Given the description of an element on the screen output the (x, y) to click on. 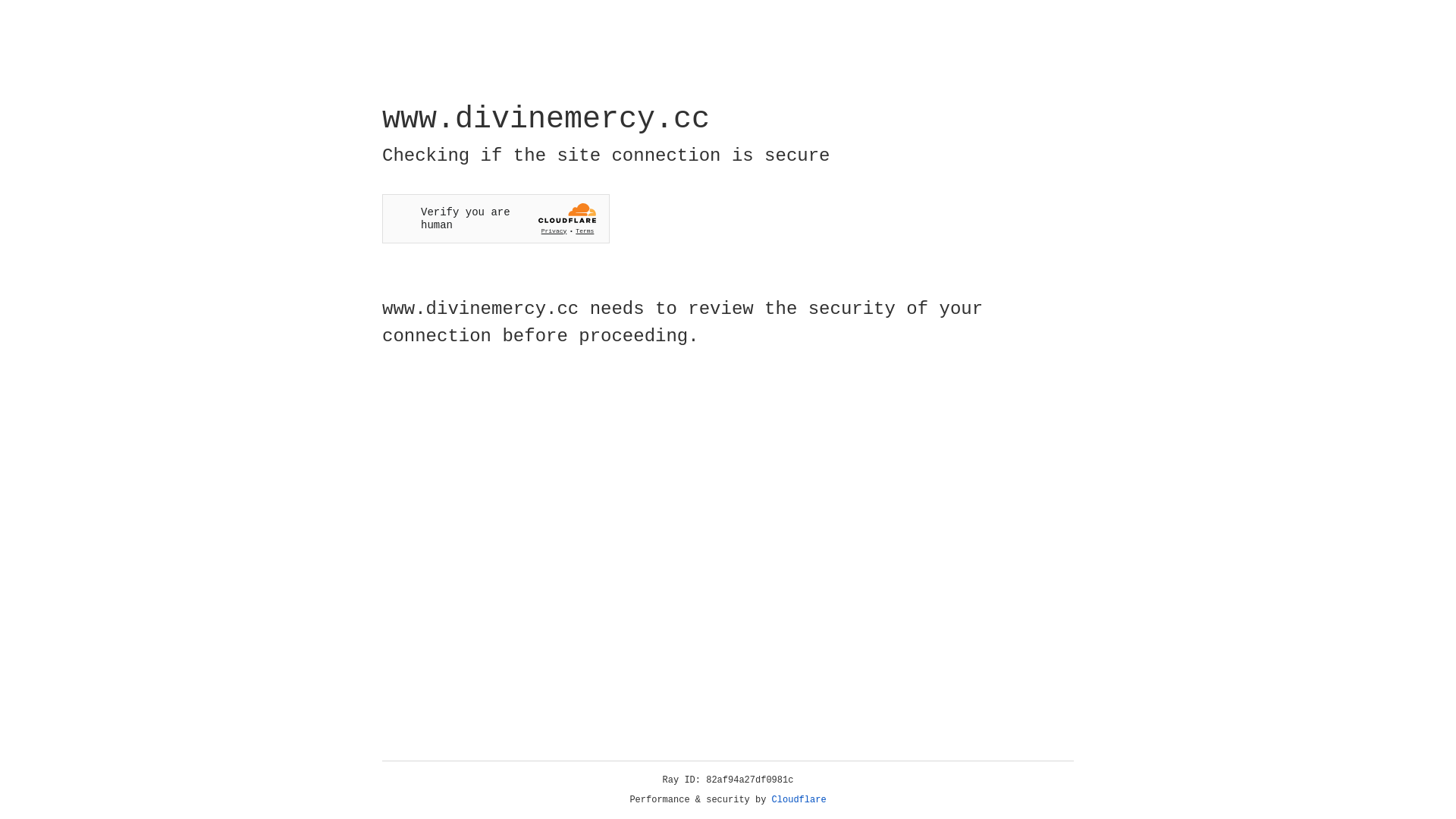
Widget containing a Cloudflare security challenge Element type: hover (495, 218)
Cloudflare Element type: text (798, 799)
